Given the description of an element on the screen output the (x, y) to click on. 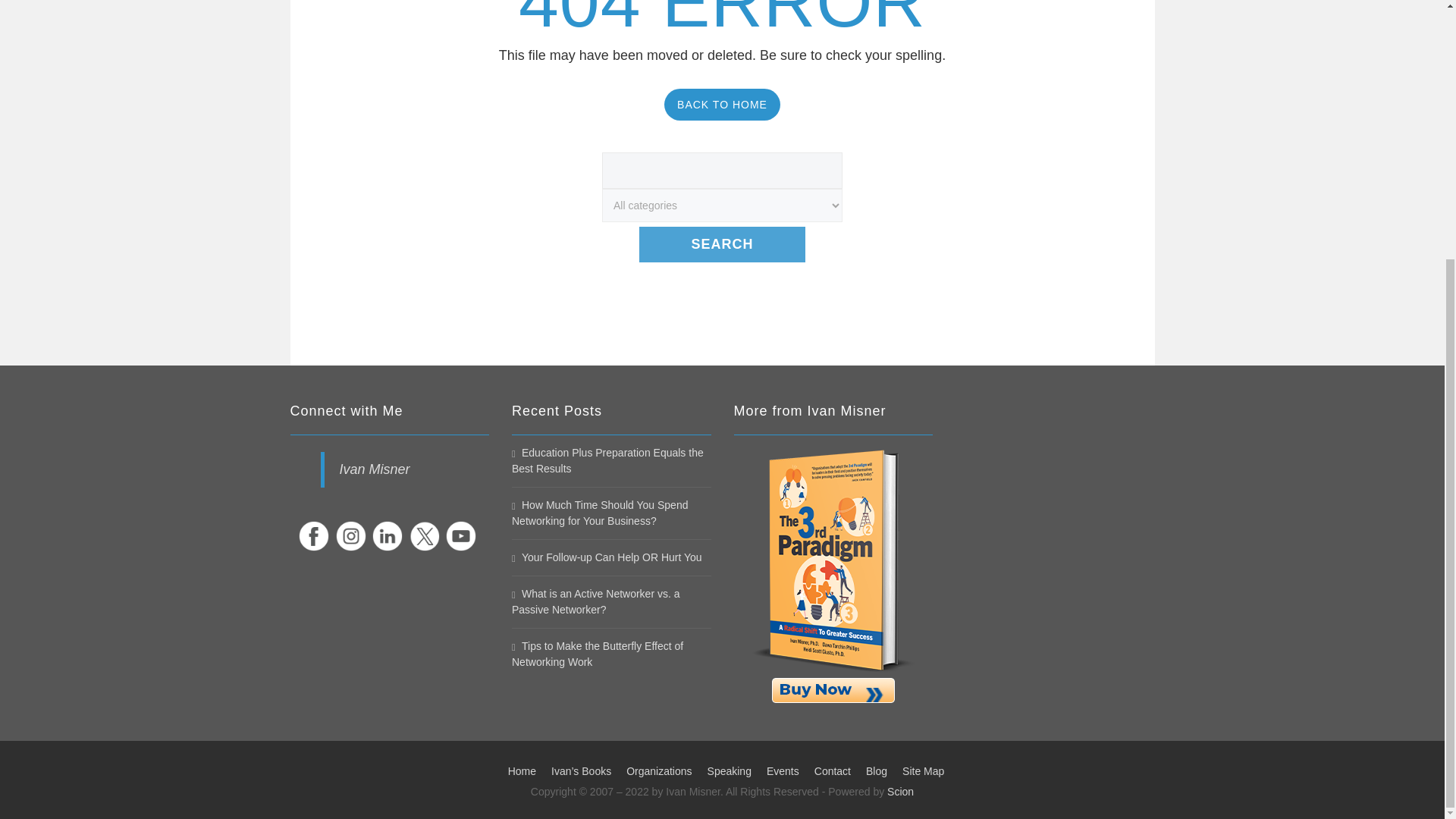
What is an Active Networker vs. a Passive Networker? (595, 601)
Ivan Misner (374, 468)
Your Follow-up Can Help OR Hurt You (606, 557)
Back to Home (721, 104)
Events (783, 770)
Education Plus Preparation Equals the Best Results (607, 460)
How Much Time Should You Spend Networking for Your Business? (599, 512)
Contact (831, 770)
Search (722, 244)
Search (722, 244)
Organizations (658, 770)
Tips to Make the Butterfly Effect of Networking Work (597, 653)
Site Map (922, 770)
Speaking (729, 770)
Home (521, 770)
